Given the description of an element on the screen output the (x, y) to click on. 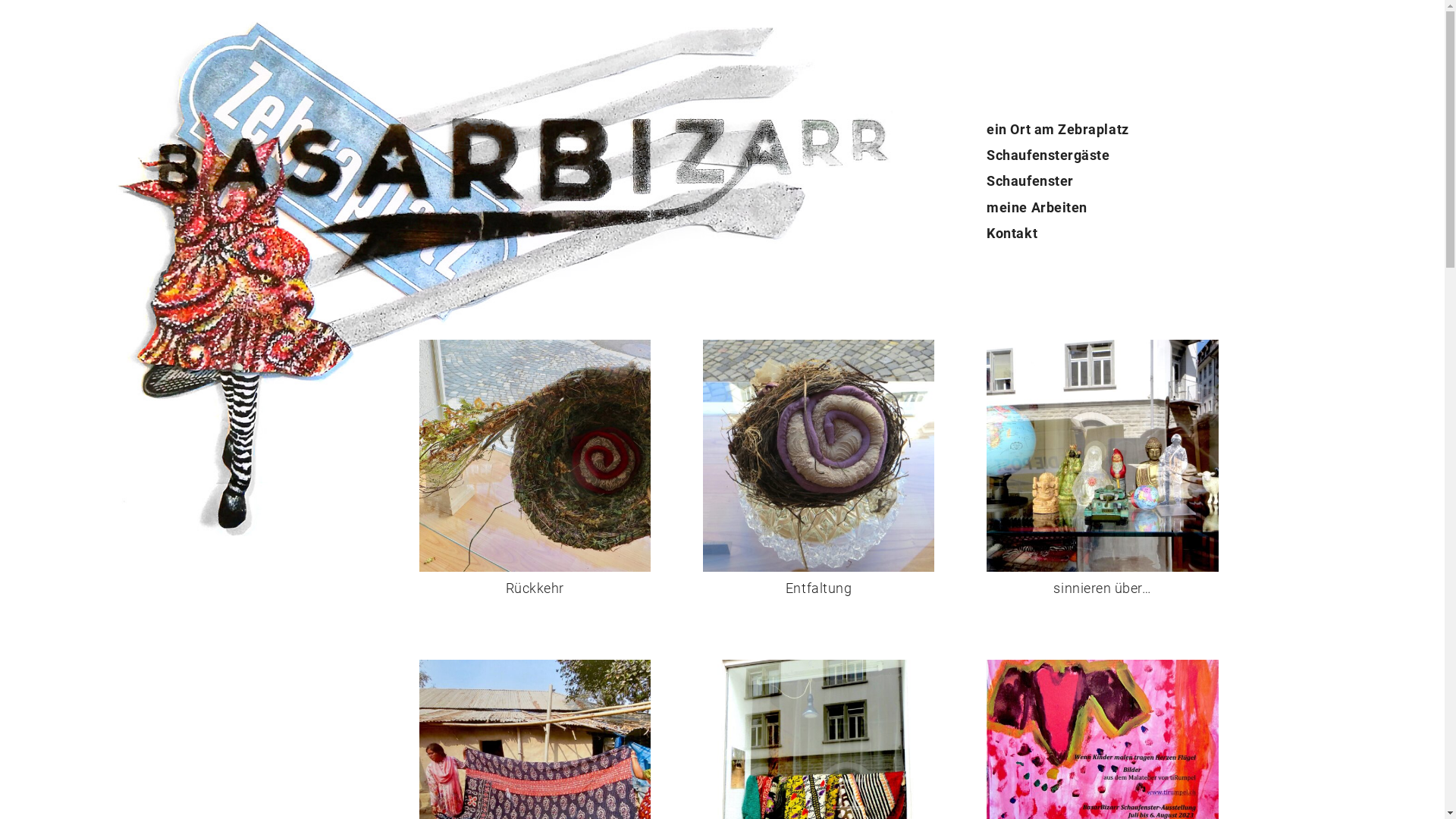
Kontakt Element type: text (1011, 233)
Schaufenster Element type: text (1029, 180)
meine Arbeiten Element type: text (1036, 207)
Entfaltung Element type: text (818, 577)
ein Ort am Zebraplatz Element type: text (1057, 129)
